Given the description of an element on the screen output the (x, y) to click on. 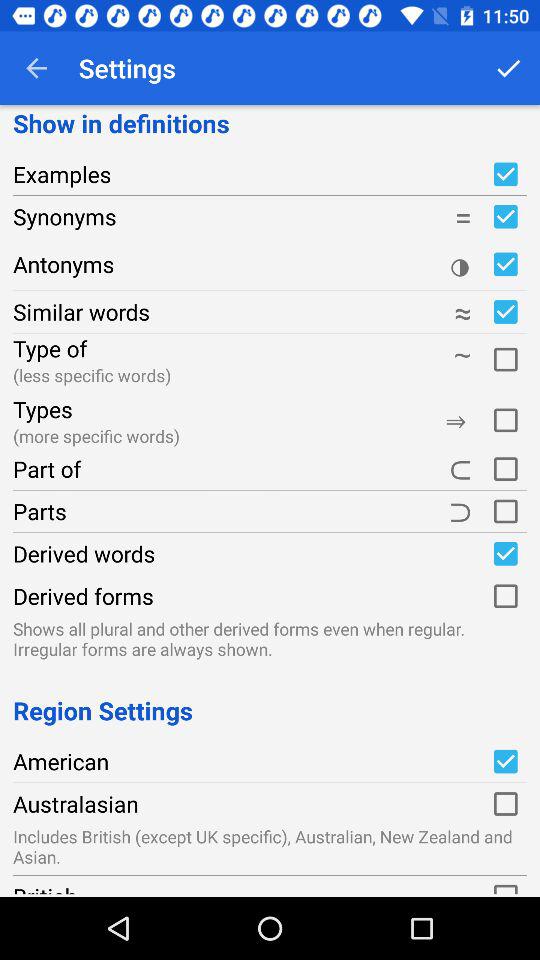
select checkbox (505, 804)
